Given the description of an element on the screen output the (x, y) to click on. 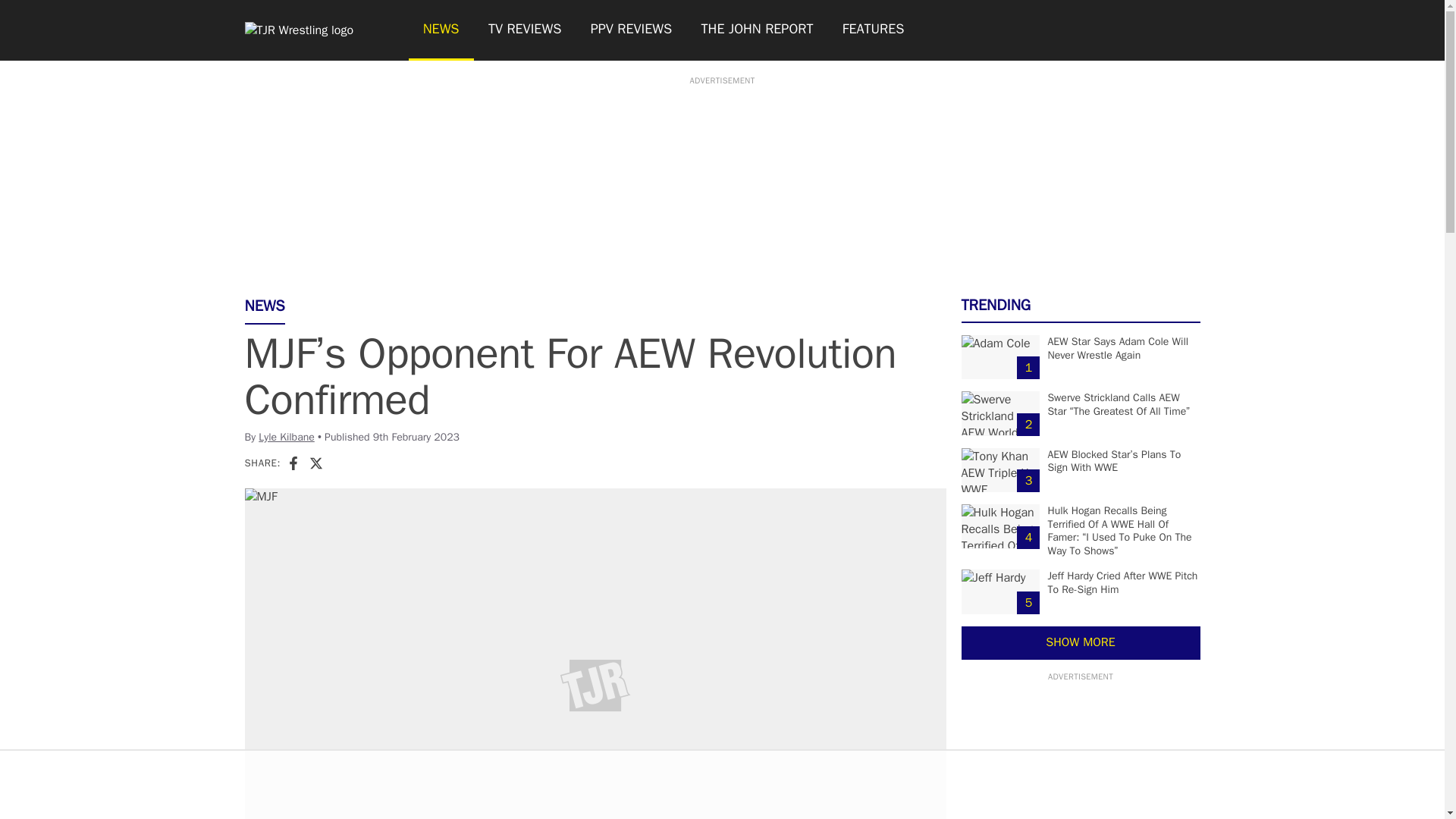
NEWS (440, 30)
Facebook (292, 462)
Facebook (292, 463)
Lyle Kilbane (286, 436)
FEATURES (873, 30)
THE JOHN REPORT (756, 30)
X (315, 463)
TV REVIEWS (525, 30)
PPV REVIEWS (631, 30)
X (315, 462)
